Given the description of an element on the screen output the (x, y) to click on. 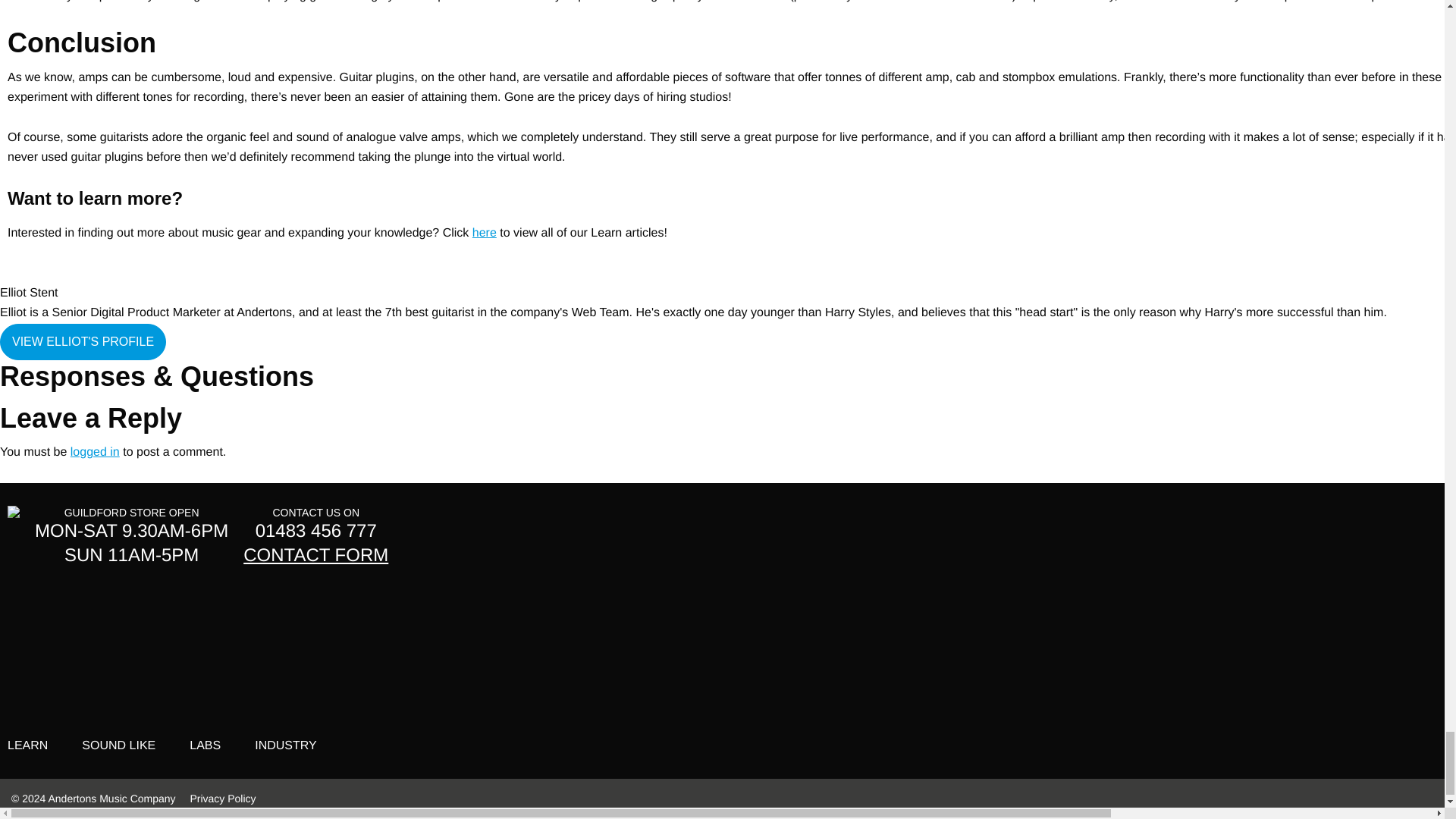
Sound Like (118, 745)
Labs (205, 745)
Industry (285, 745)
Learn (27, 745)
